Given the description of an element on the screen output the (x, y) to click on. 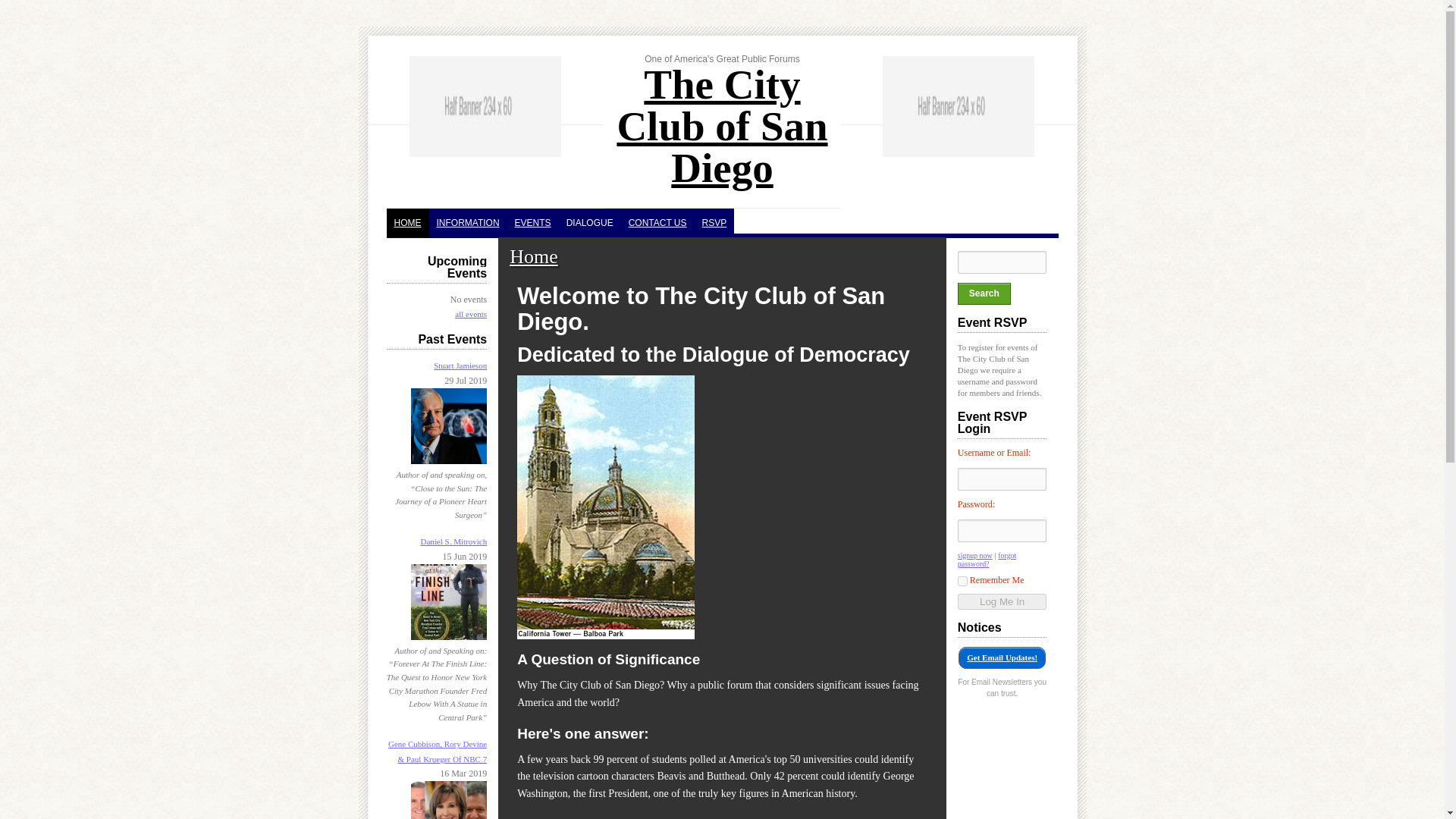
RSVP (714, 222)
all events (470, 313)
CONTACT US (657, 222)
HOME (408, 222)
DIALOGUE (590, 222)
Username (1002, 478)
Stuart Jamieson (459, 365)
Daniel S. Mitrovich (453, 541)
all events (470, 313)
EVENTS (532, 222)
